Given the description of an element on the screen output the (x, y) to click on. 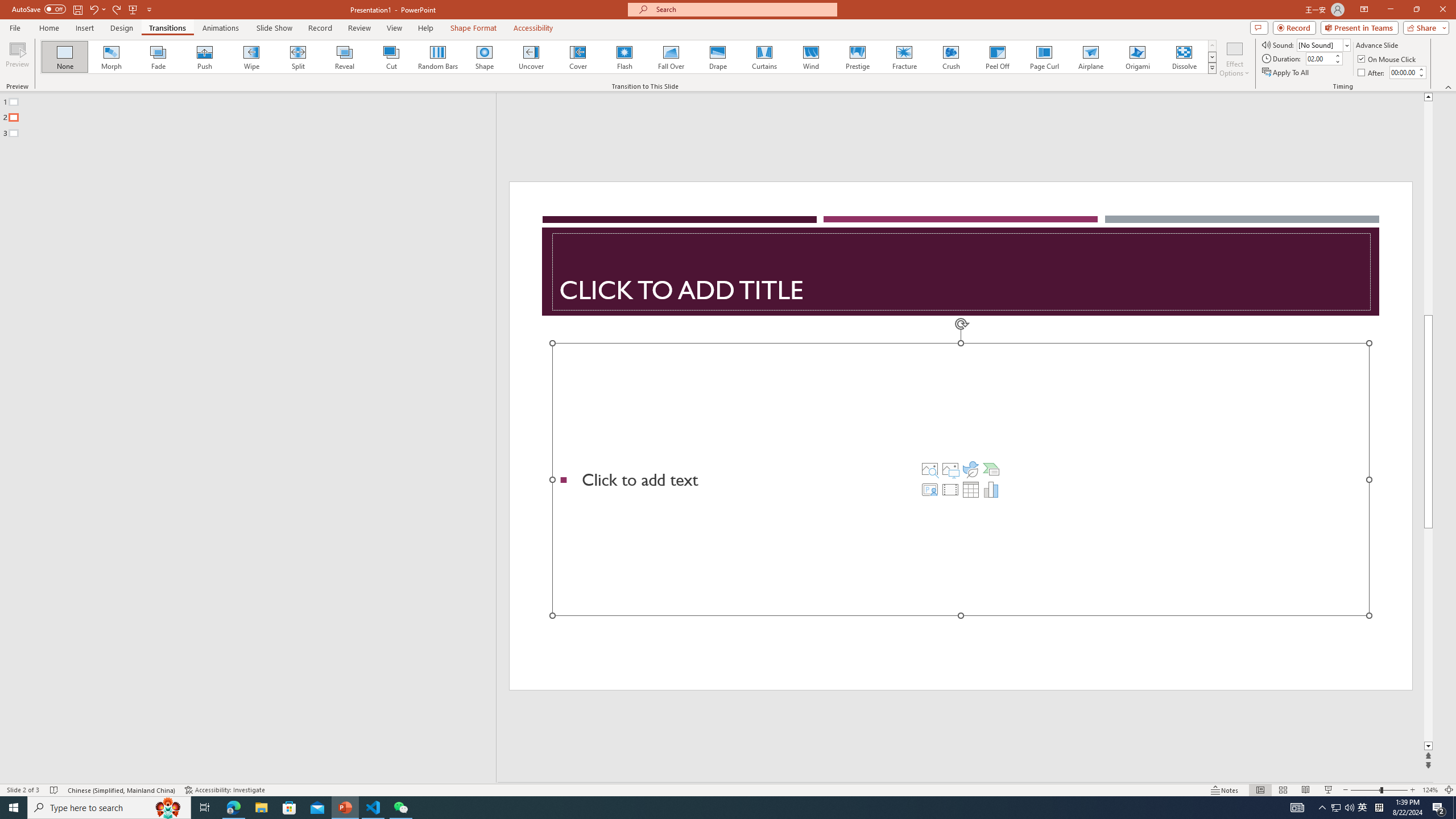
Content Placeholder (960, 479)
Sound (1324, 44)
Morph (111, 56)
Peel Off (997, 56)
